Given the description of an element on the screen output the (x, y) to click on. 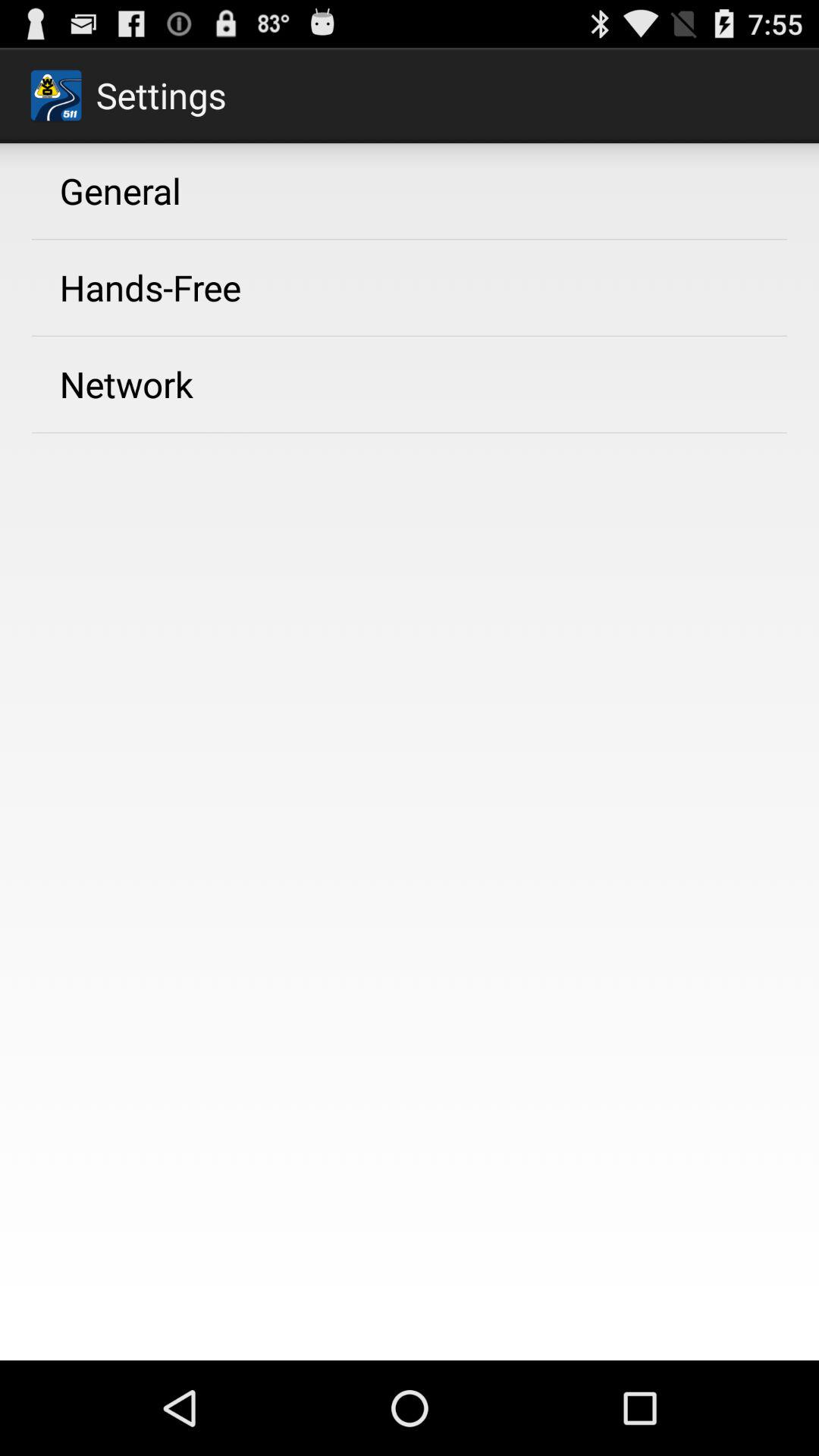
press item above hands-free icon (119, 190)
